Given the description of an element on the screen output the (x, y) to click on. 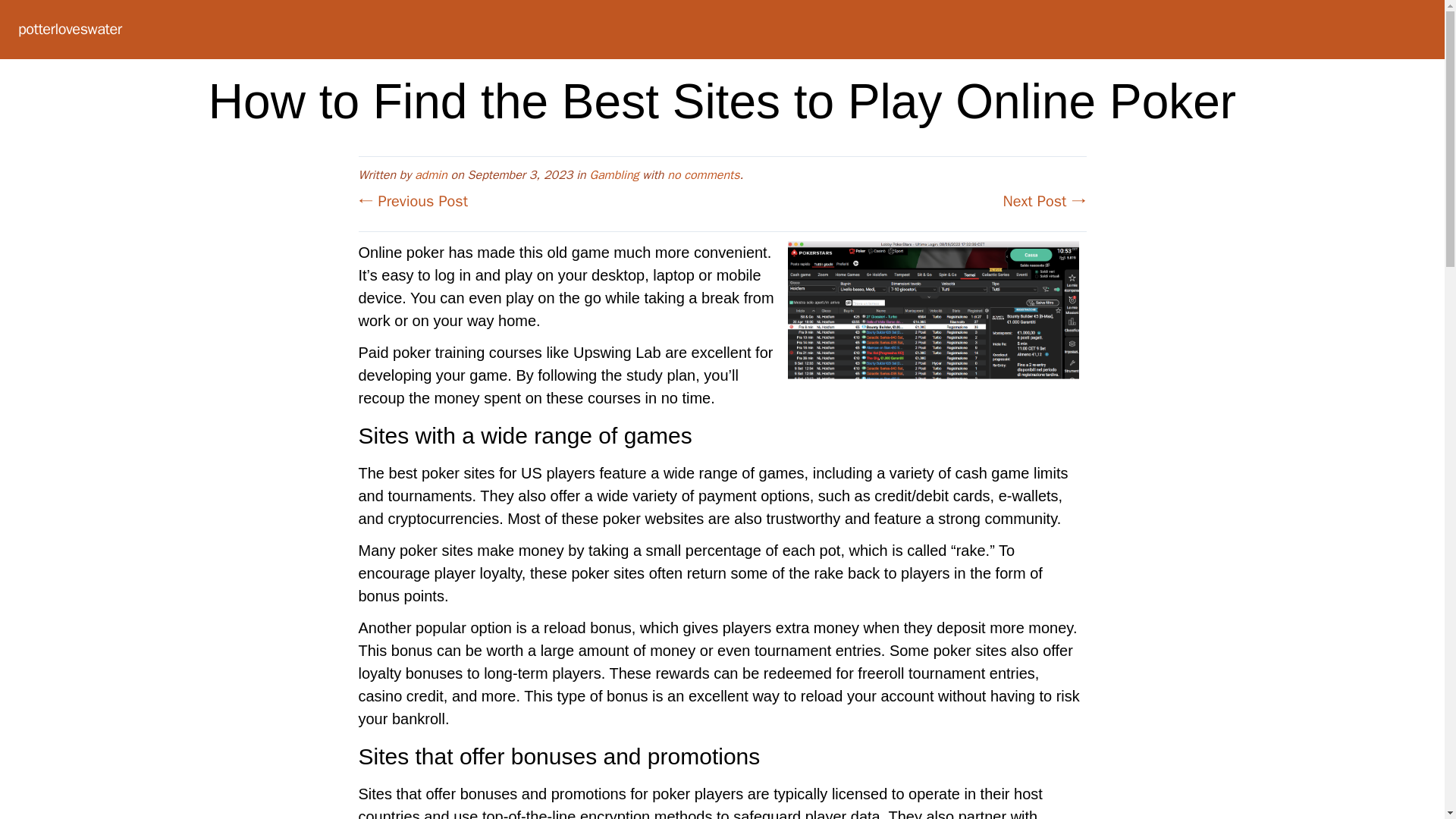
potterloveswater (69, 29)
admin (430, 174)
no comments (702, 174)
no comments (702, 174)
Gambling (614, 174)
